Given the description of an element on the screen output the (x, y) to click on. 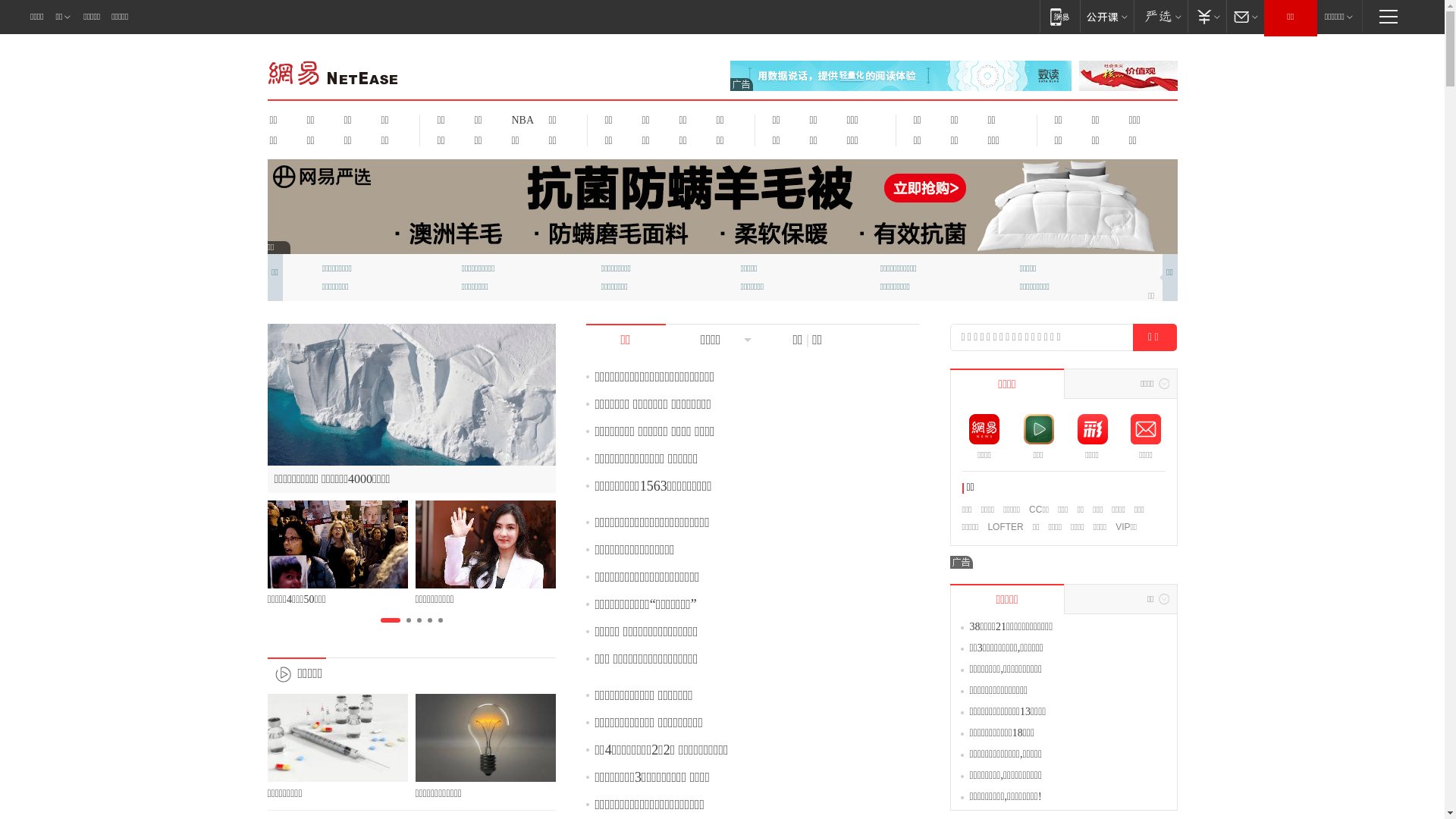
LOFTER Element type: text (1004, 526)
NBA Element type: text (520, 119)
